Given the description of an element on the screen output the (x, y) to click on. 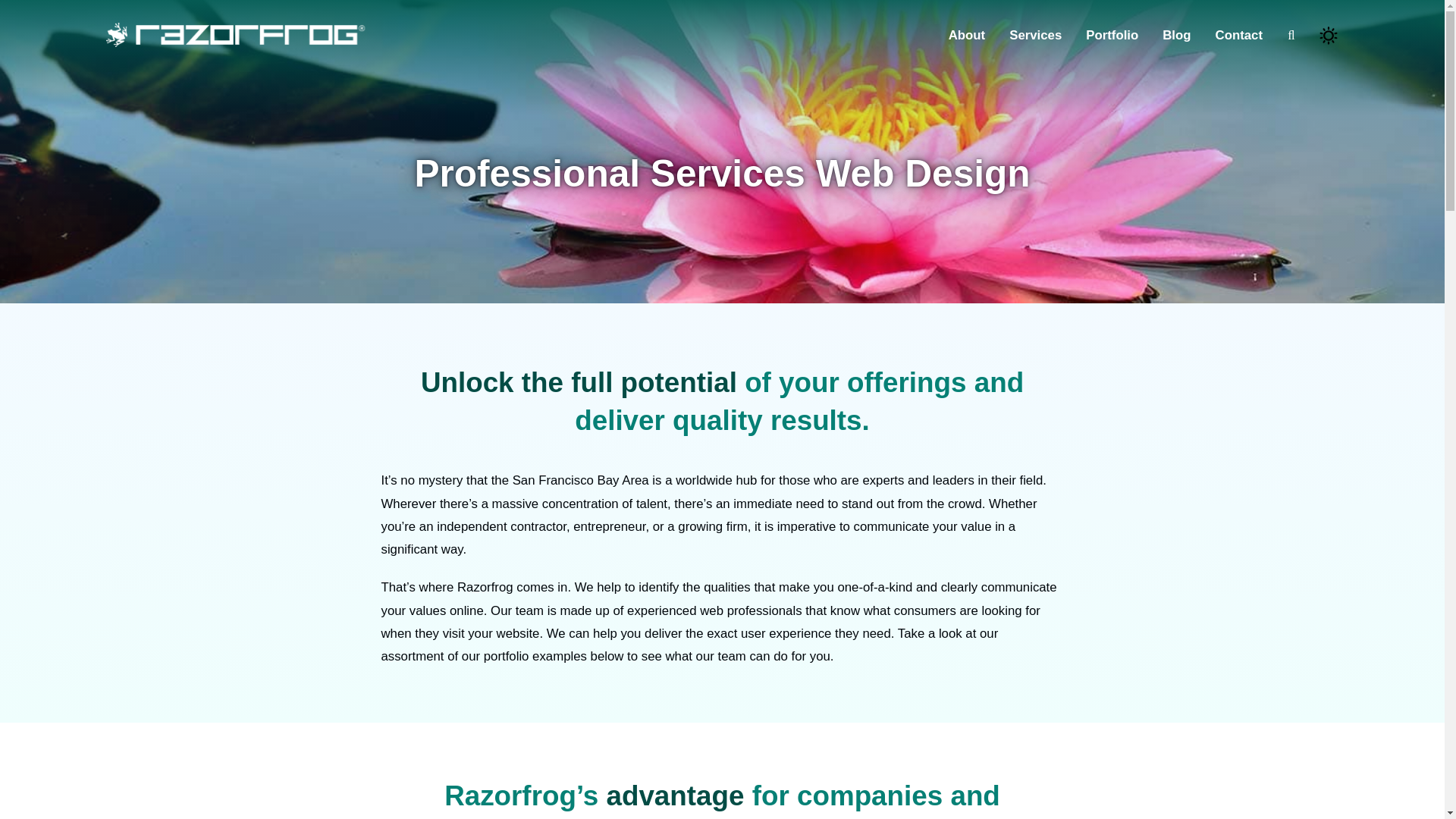
Services (1035, 35)
About (967, 35)
Contact (1238, 35)
Blog (1176, 35)
Portfolio (1112, 35)
